Given the description of an element on the screen output the (x, y) to click on. 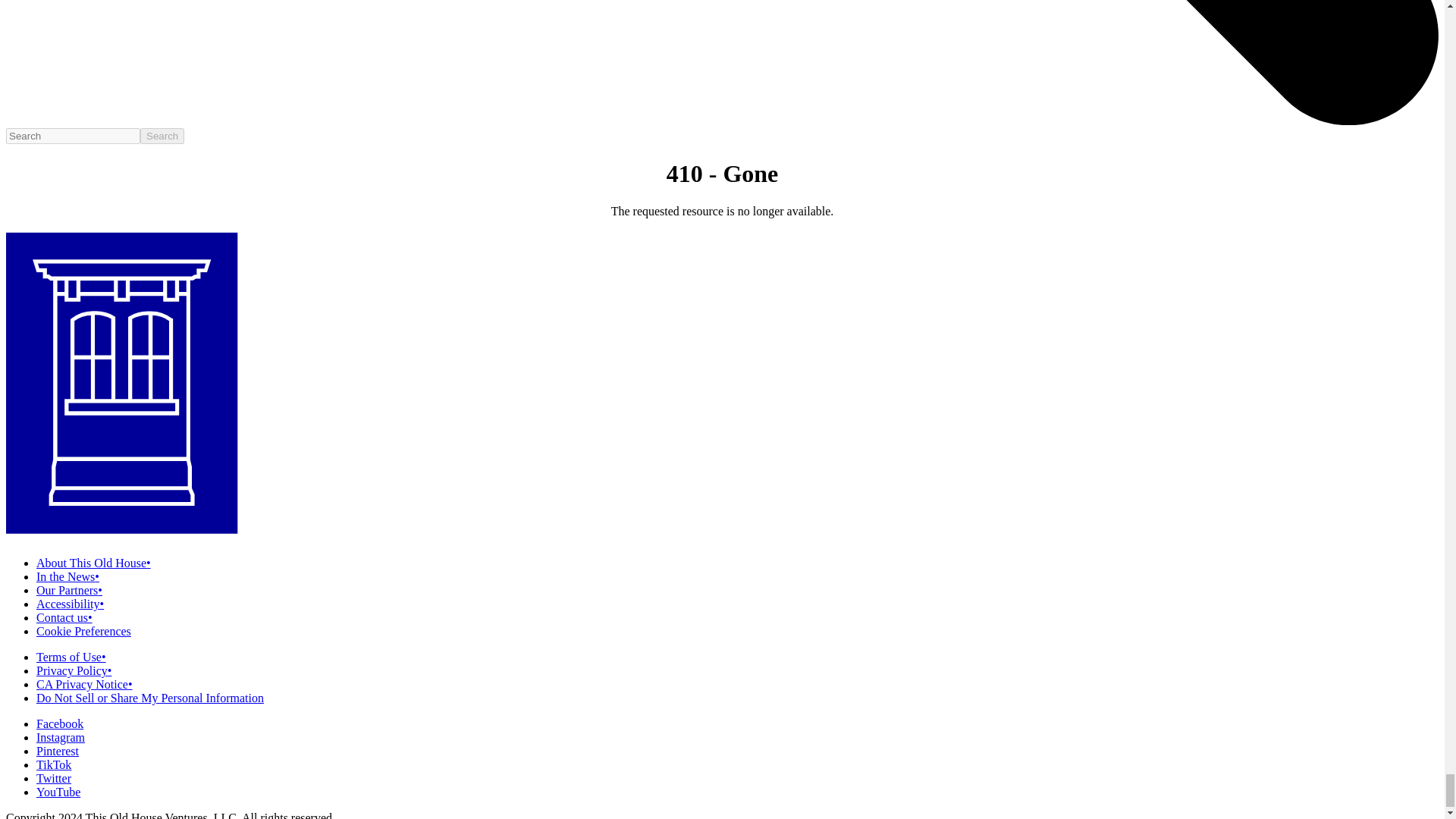
Search (161, 135)
